Given the description of an element on the screen output the (x, y) to click on. 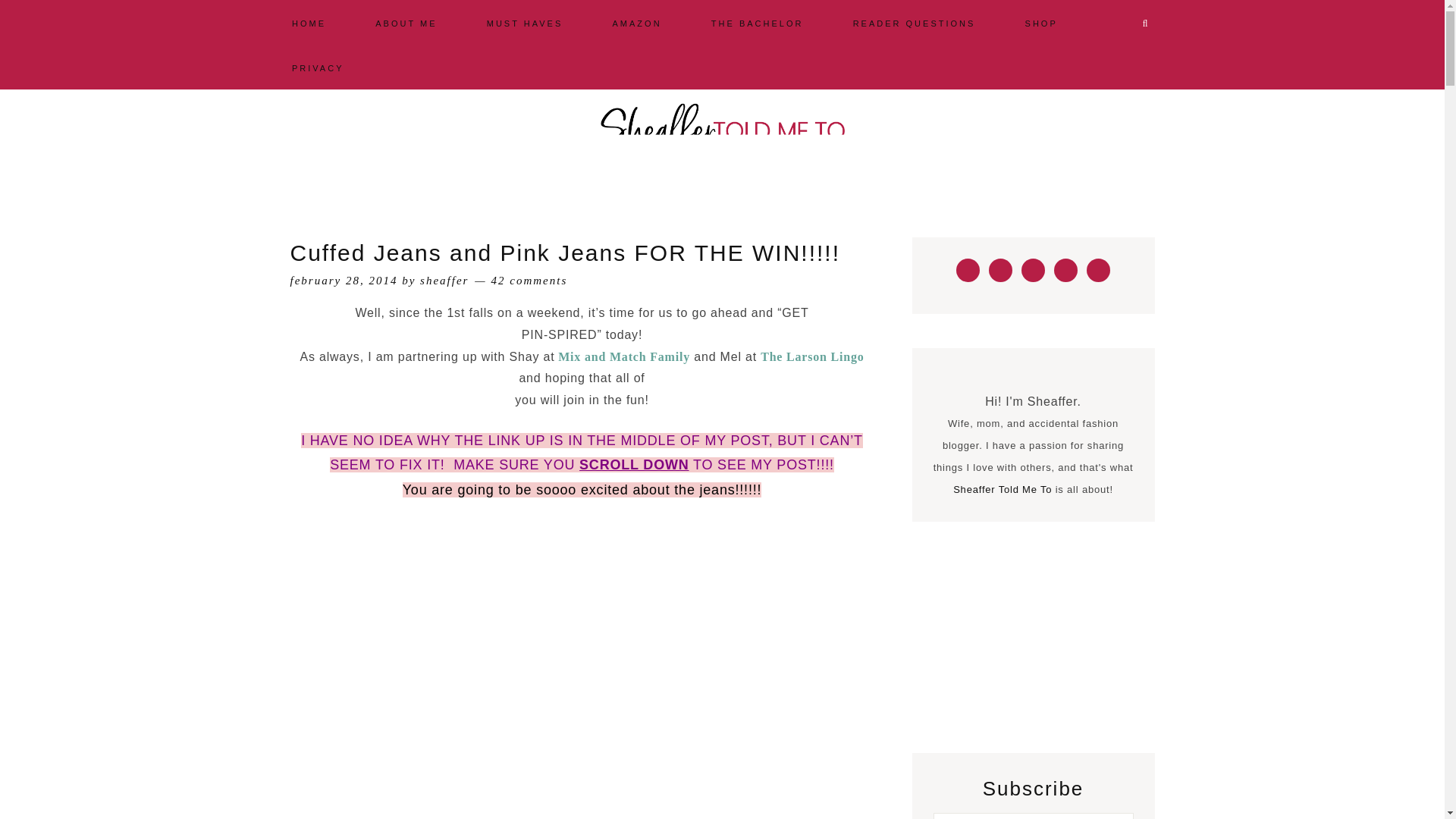
ABOUT ME (406, 22)
sheaffer (444, 280)
THE BACHELOR (757, 22)
HOME (309, 22)
SHEAFFER TOLD ME TO (722, 128)
Mix and Match Family (623, 356)
42 comments (529, 280)
SHOP (1041, 22)
The Larson Lingo (811, 356)
AMAZON (636, 22)
READER QUESTIONS (913, 22)
MUST HAVES (525, 22)
PRIVACY (317, 66)
